Given the description of an element on the screen output the (x, y) to click on. 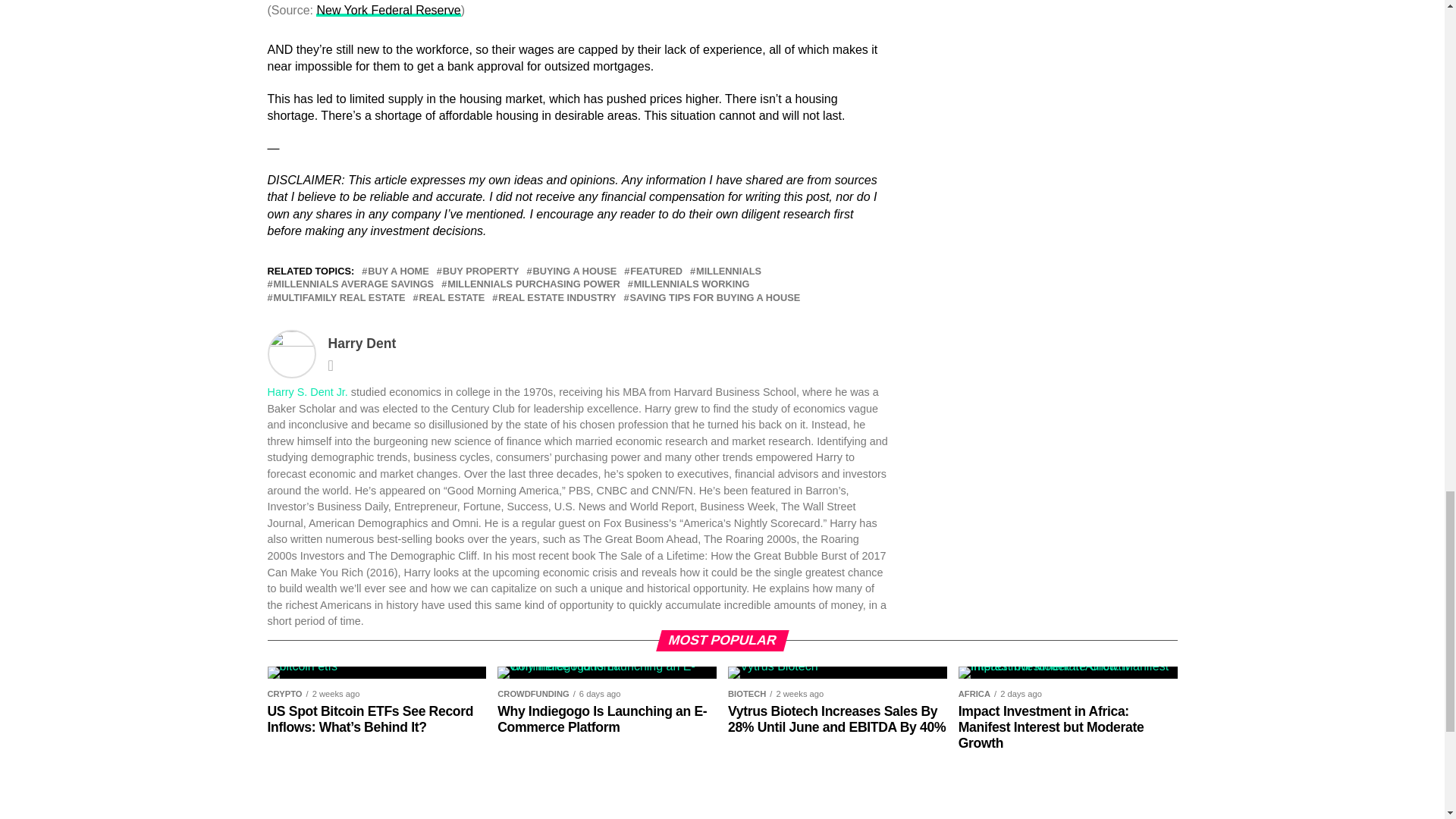
MILLENNIALS PURCHASING POWER (533, 284)
BUY PROPERTY (480, 271)
New York Federal Reserve (387, 10)
MILLENNIALS (728, 271)
FEATURED (656, 271)
BUYING A HOUSE (574, 271)
MILLENNIALS AVERAGE SAVINGS (353, 284)
Posts by Harry Dent (361, 343)
BUY A HOME (398, 271)
